Given the description of an element on the screen output the (x, y) to click on. 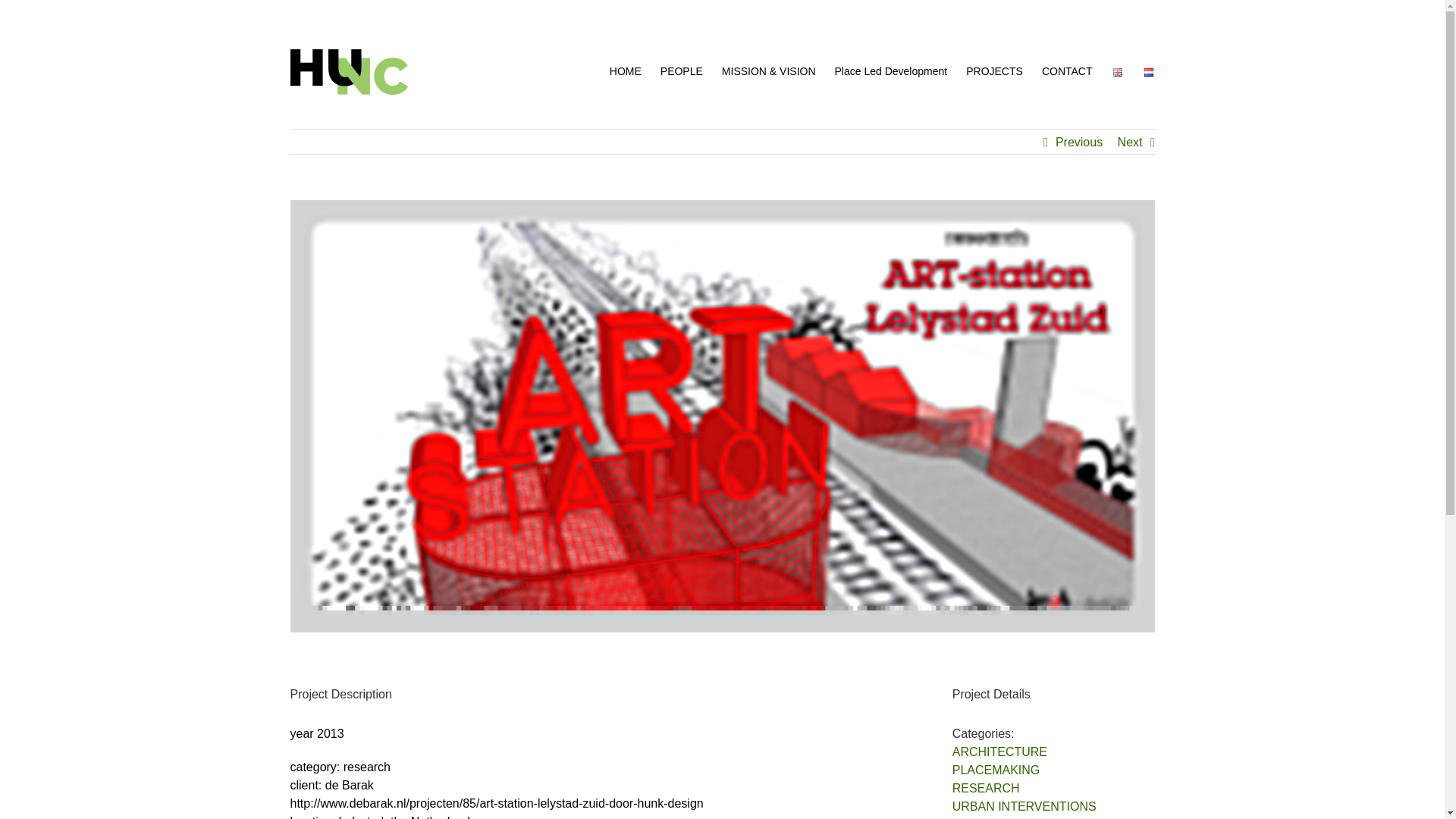
Previous (1078, 142)
Nederlands (1147, 71)
ARCHITECTURE (999, 751)
PLACEMAKING (996, 769)
URBAN INTERVENTIONS (1024, 806)
English (1118, 71)
RESEARCH (986, 788)
Next (1130, 142)
Place Led Development (890, 71)
